Given the description of an element on the screen output the (x, y) to click on. 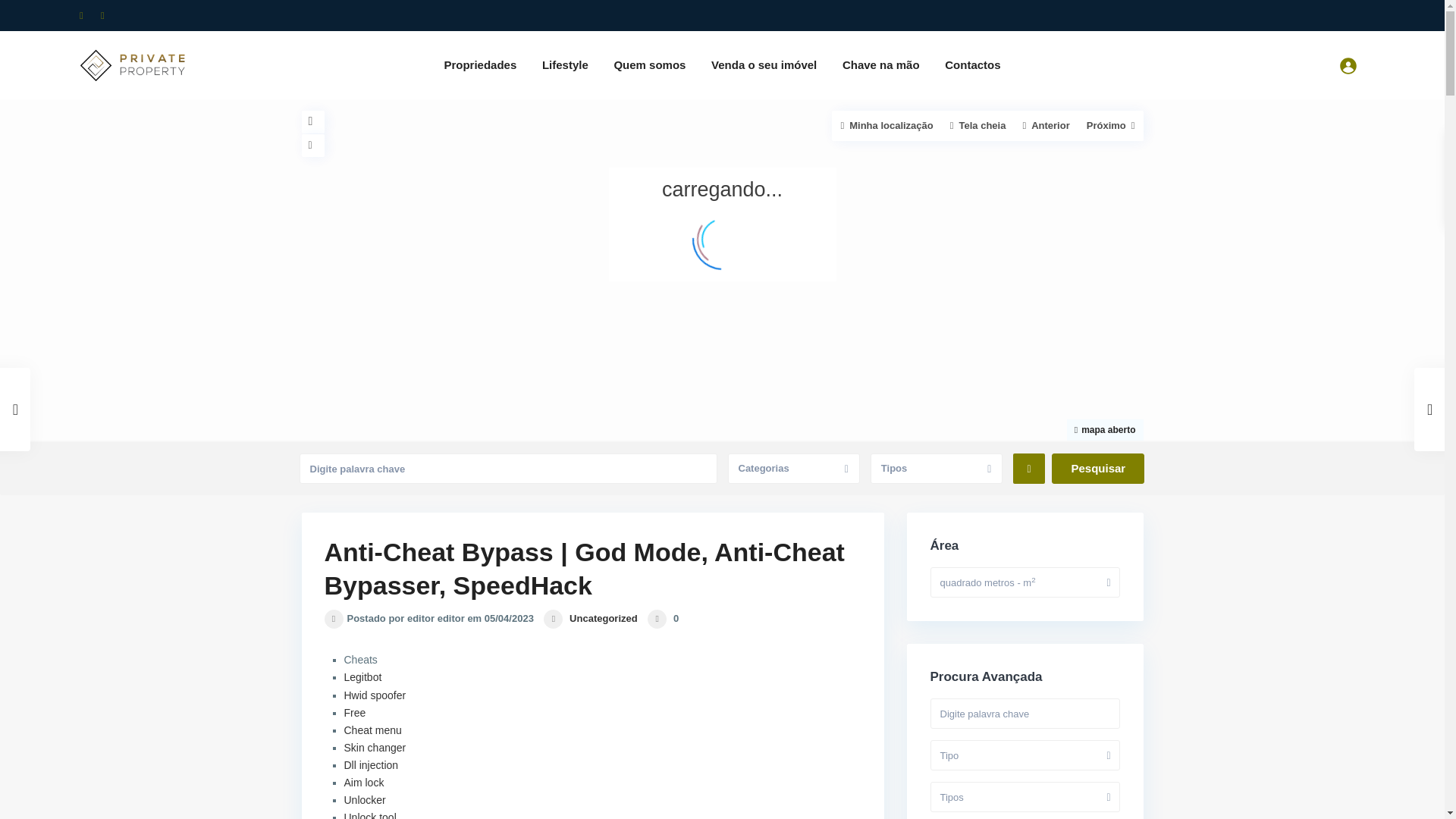
Free (354, 712)
Uncategorized (603, 618)
Skin changer (374, 747)
Quem somos (649, 65)
Dll injection (370, 765)
Pesquisar (1097, 468)
Propriedades (479, 65)
Cheat menu (372, 729)
Lifestyle (565, 65)
Hwid spoofer (374, 695)
Legitbot (362, 676)
Pesquisar (1097, 468)
Contactos (972, 65)
